Given the description of an element on the screen output the (x, y) to click on. 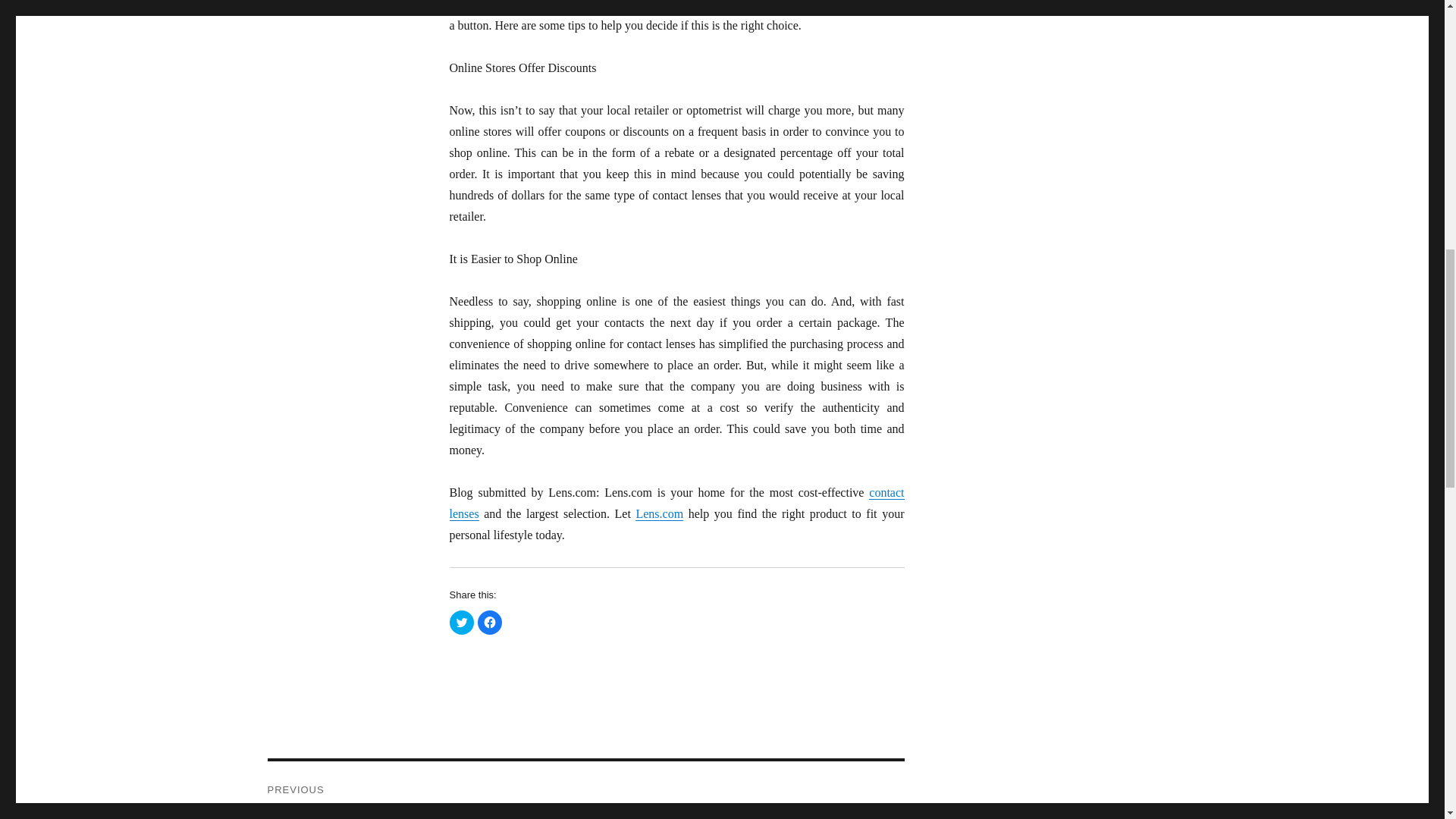
contact lenses (676, 503)
Lens.com (658, 513)
Click to share on Facebook (489, 622)
Click to share on Twitter (460, 622)
